Given the description of an element on the screen output the (x, y) to click on. 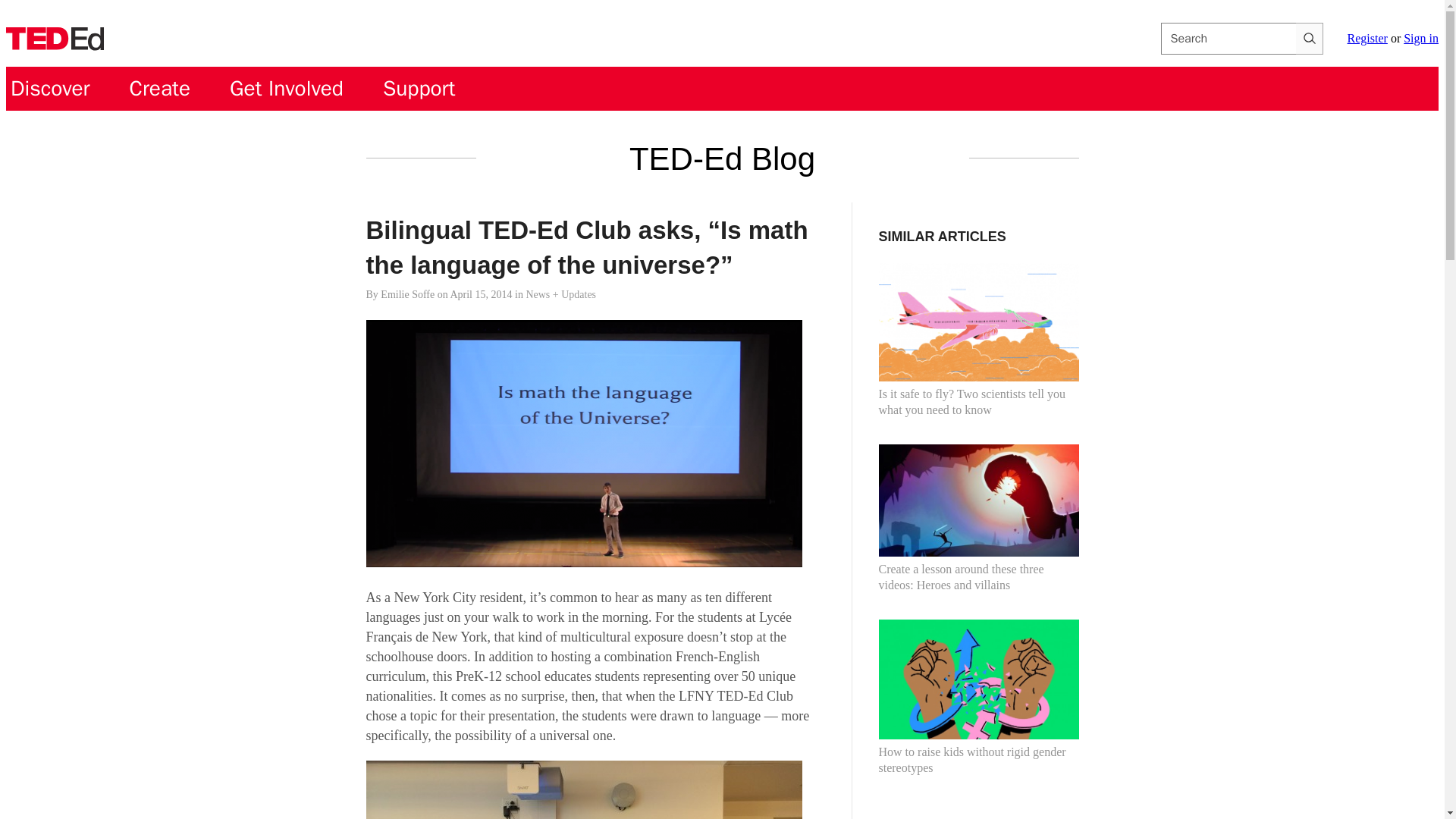
TED-Ed Blog (721, 158)
How to raise kids without rigid gender stereotypes (977, 697)
